Given the description of an element on the screen output the (x, y) to click on. 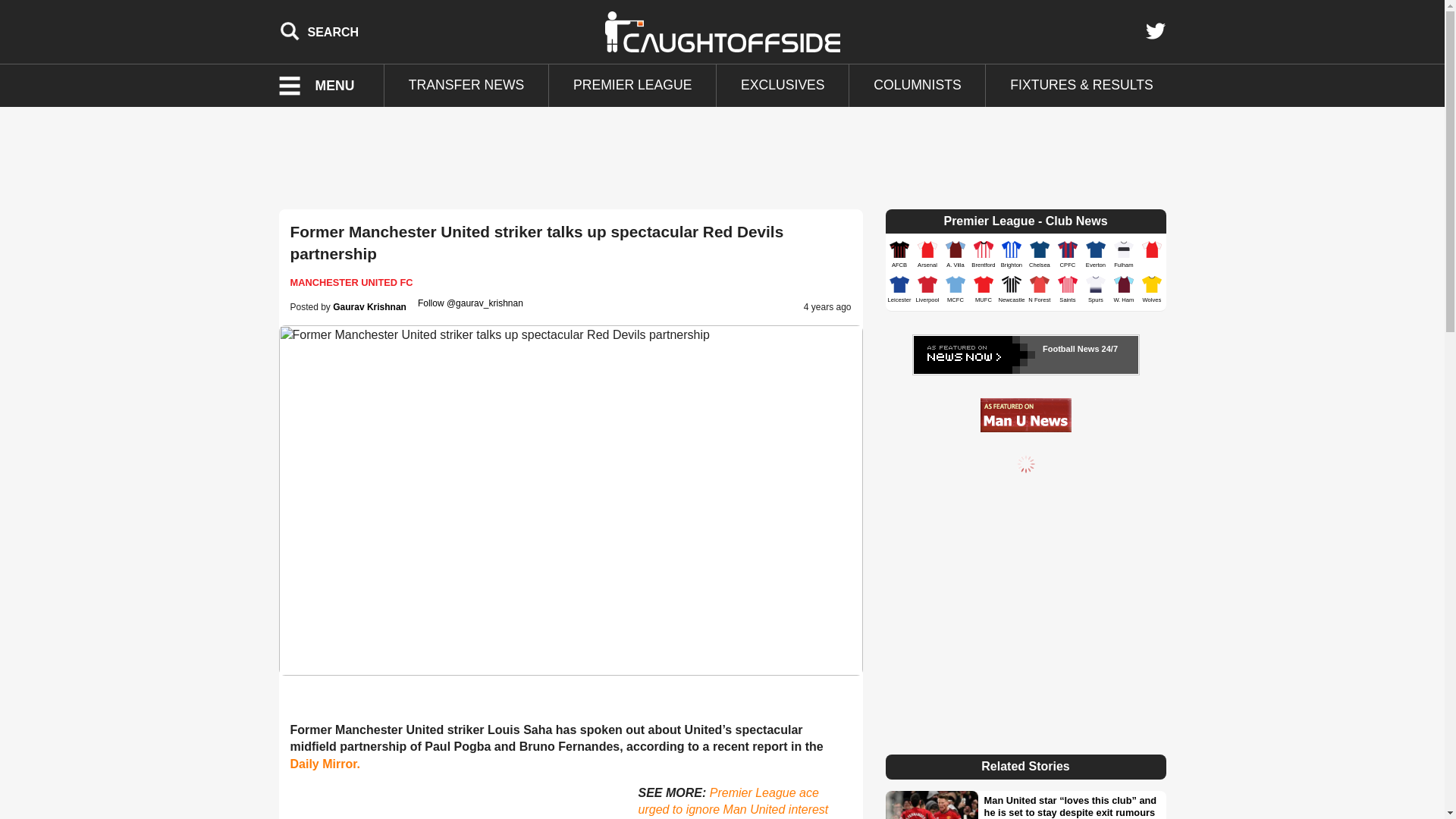
PREMIER LEAGUE (632, 85)
EXCLUSIVES (782, 85)
Search (319, 30)
Menu (325, 85)
TRANSFER NEWS (466, 85)
Twitter (1155, 30)
